Given the description of an element on the screen output the (x, y) to click on. 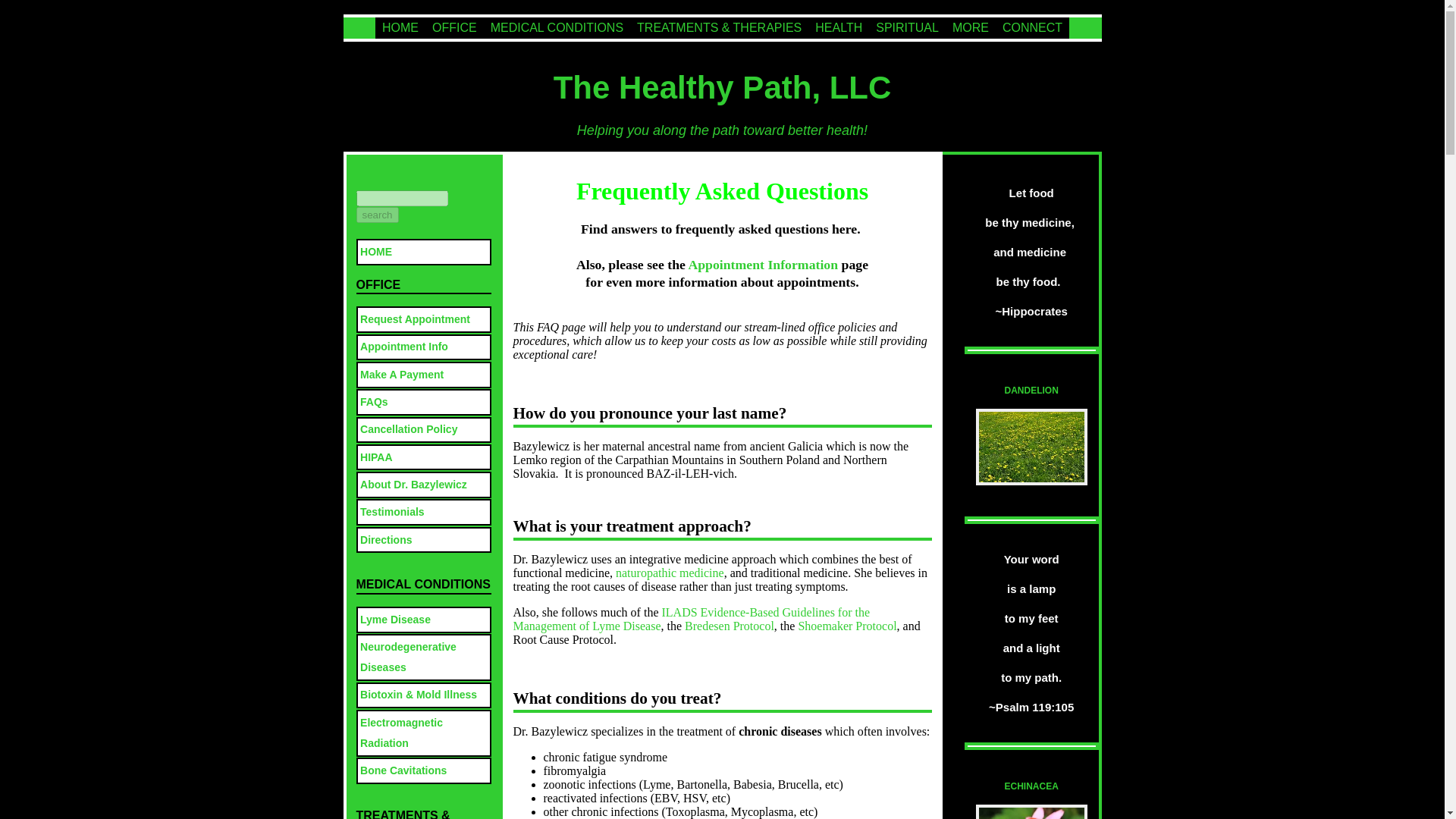
The Healthy Path, LLC (722, 87)
Dandelion (1031, 480)
Dandelion (1031, 446)
HOME (400, 27)
Echinacea (1031, 811)
search (377, 214)
